Given the description of an element on the screen output the (x, y) to click on. 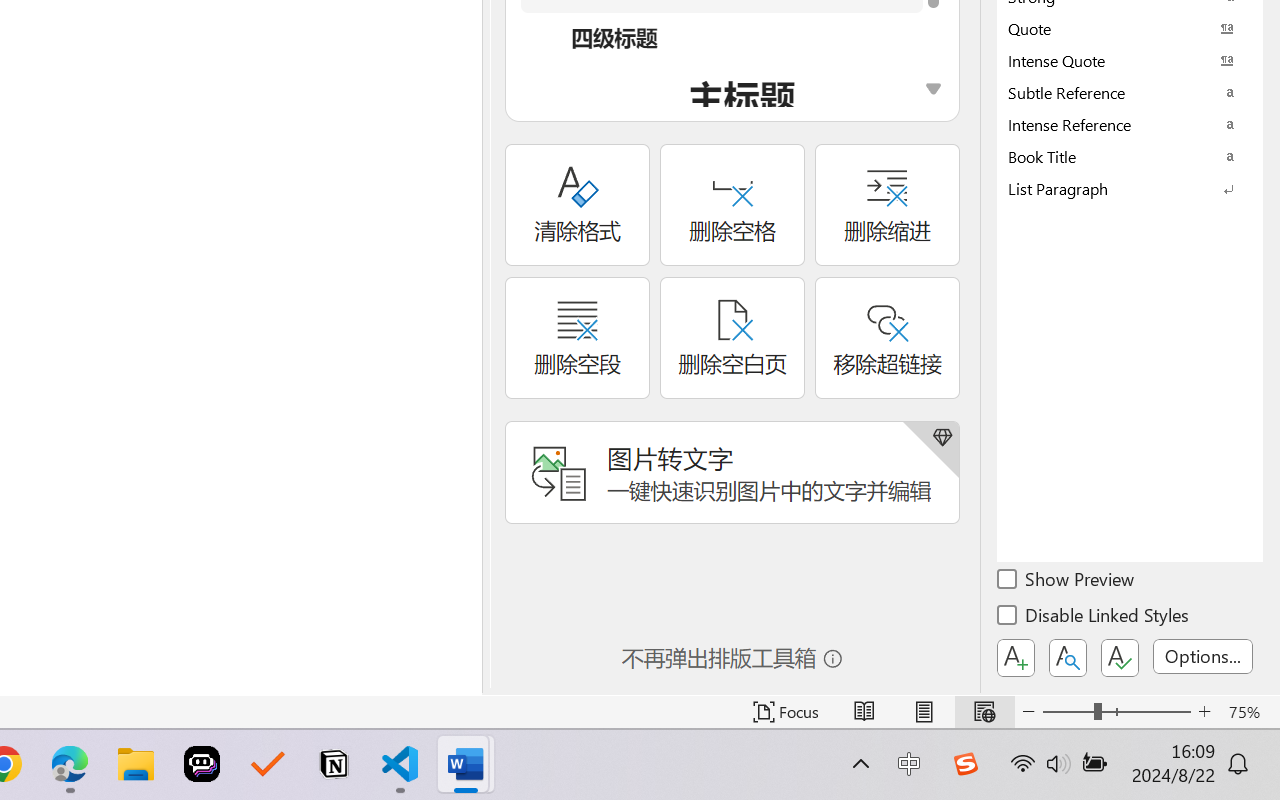
Zoom Out (1067, 712)
Zoom (1116, 712)
Show Preview (1067, 582)
Quote (1130, 28)
Book Title (1130, 156)
Intense Quote (1130, 60)
